Given the description of an element on the screen output the (x, y) to click on. 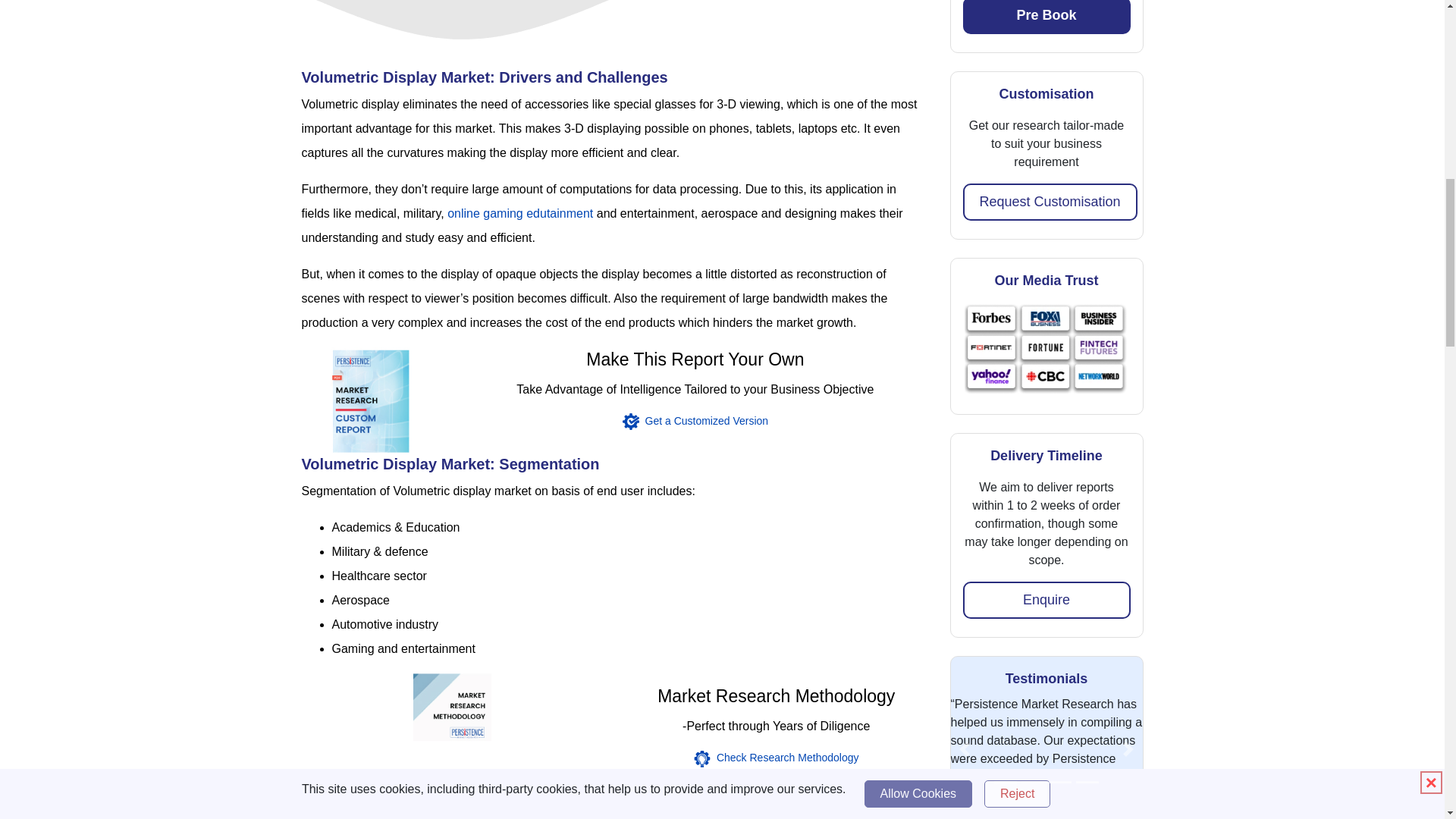
Pre Book (1046, 17)
Check Research Methodology (775, 758)
Enquire (1046, 600)
Request Customisation (1049, 201)
online gaming edutainment (519, 213)
